Given the description of an element on the screen output the (x, y) to click on. 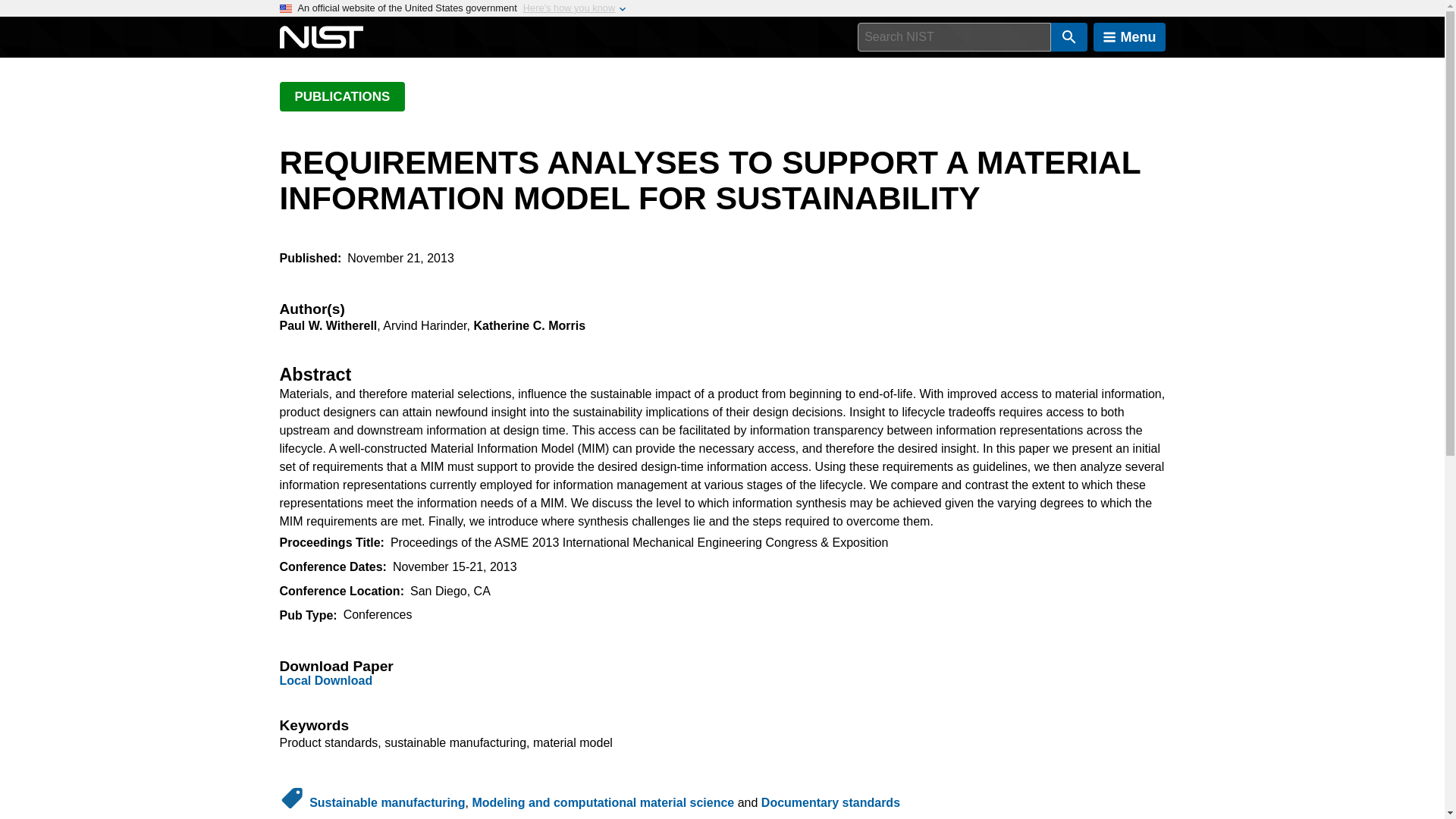
PUBLICATIONS (341, 96)
Modeling and computational material science (602, 802)
Documentary standards (830, 802)
National Institute of Standards and Technology (320, 36)
Menu (1129, 36)
Local Download (325, 680)
Sustainable manufacturing (386, 802)
